Given the description of an element on the screen output the (x, y) to click on. 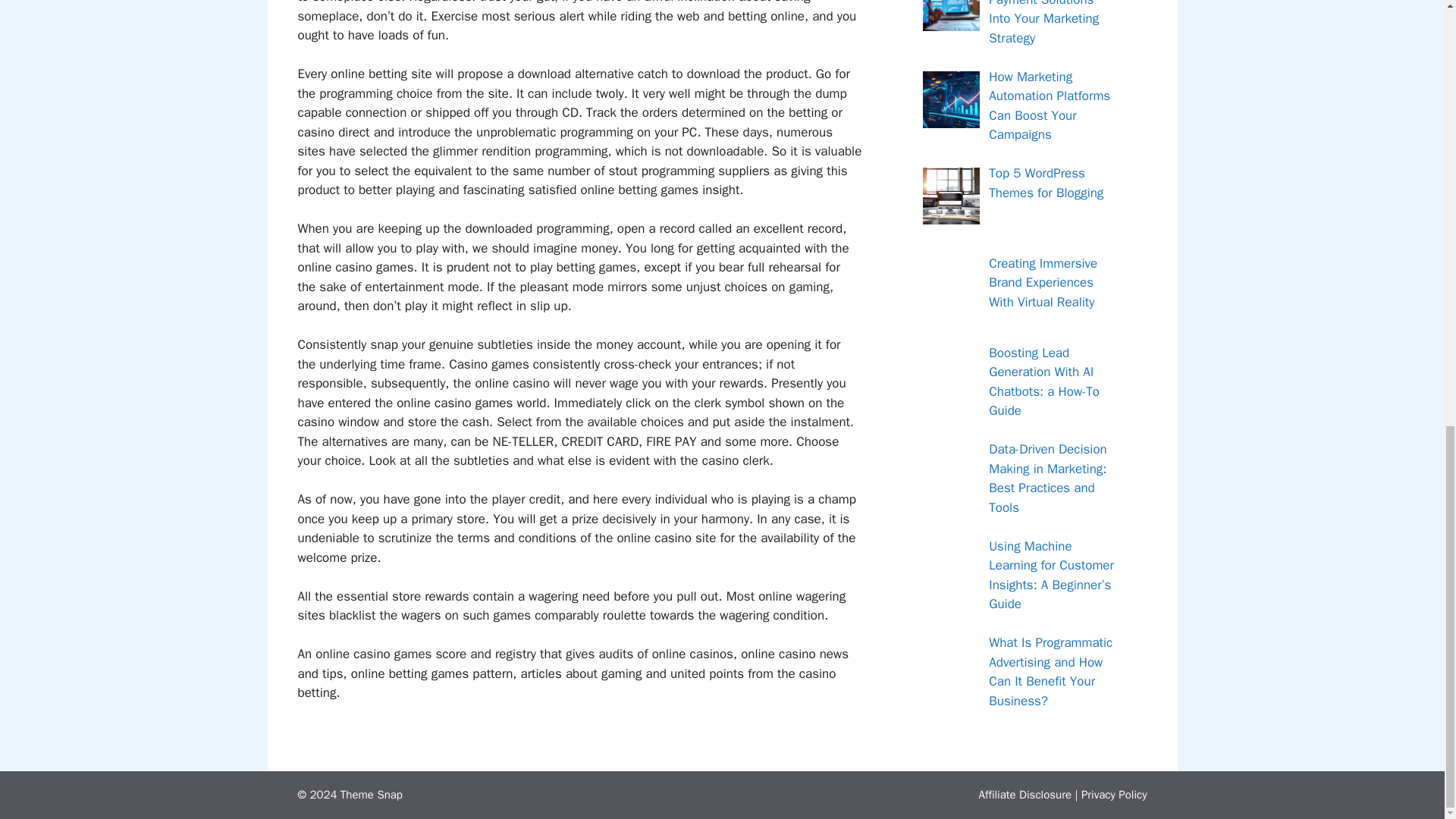
Top 5 WordPress Themes for Blogging (1045, 182)
Boosting Lead Generation With AI Chatbots: a How-To Guide (1043, 381)
Affiliate Disclosure (1024, 794)
Creating Immersive Brand Experiences With Virtual Reality (1042, 282)
Privacy Policy (1114, 794)
How Marketing Automation Platforms Can Boost Your Campaigns (1048, 105)
